Given the description of an element on the screen output the (x, y) to click on. 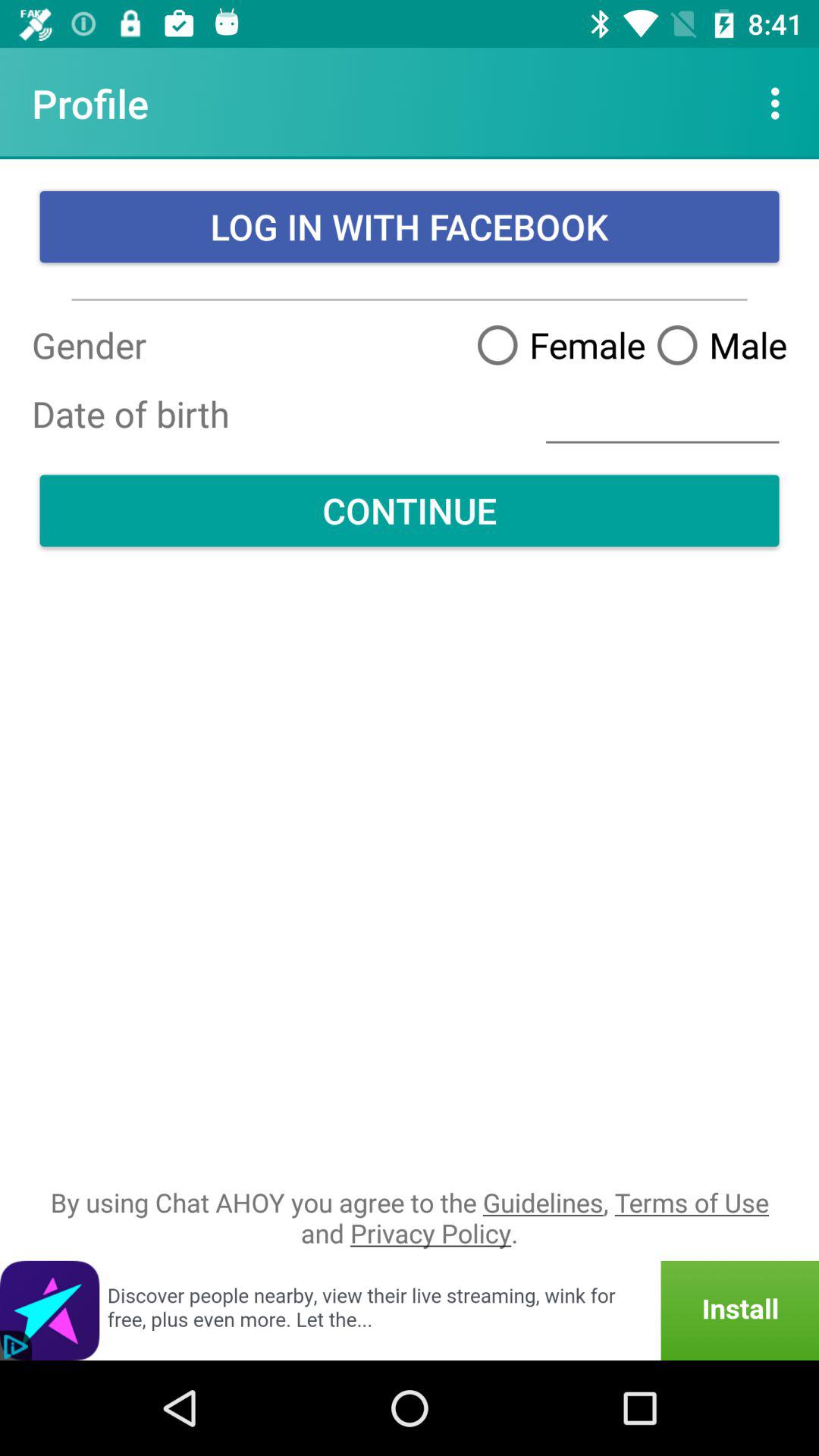
turn on the item above by using chat icon (409, 510)
